Given the description of an element on the screen output the (x, y) to click on. 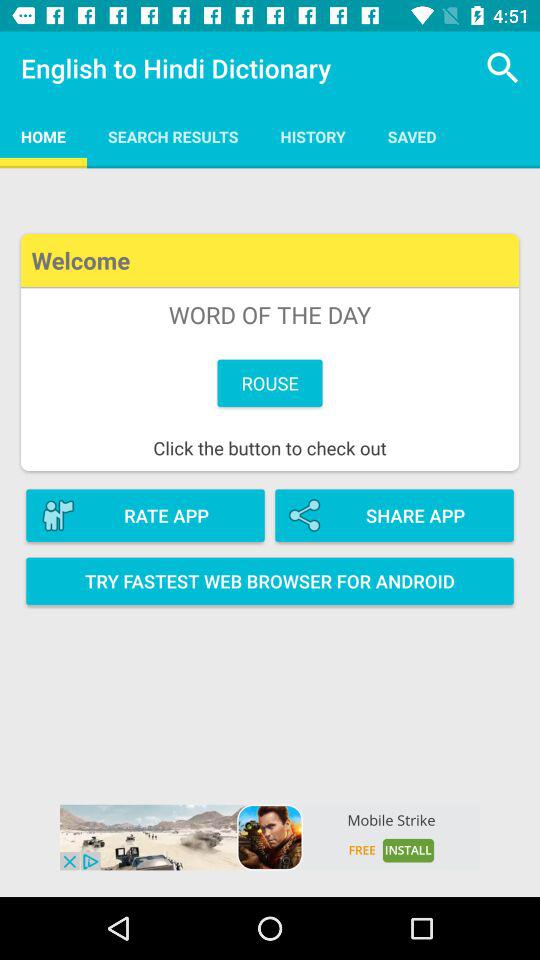
open advertisement for game mobile strike (270, 837)
